Given the description of an element on the screen output the (x, y) to click on. 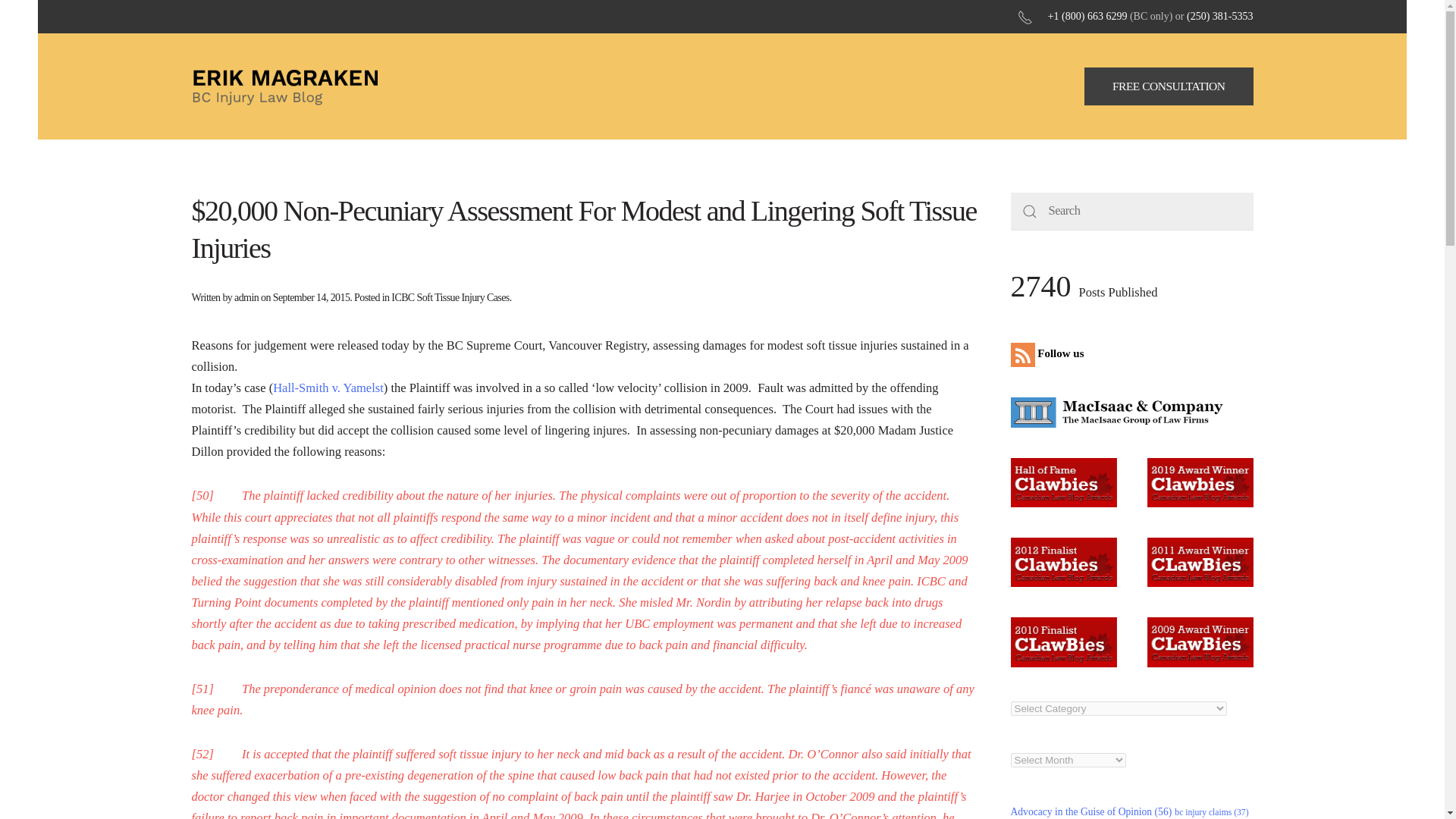
FREE CONSULTATION (1168, 86)
ICBC Soft Tissue Injury Cases (449, 297)
Follow us (1050, 353)
admin (246, 297)
Hall-Smith v. Yamelst (328, 387)
